Given the description of an element on the screen output the (x, y) to click on. 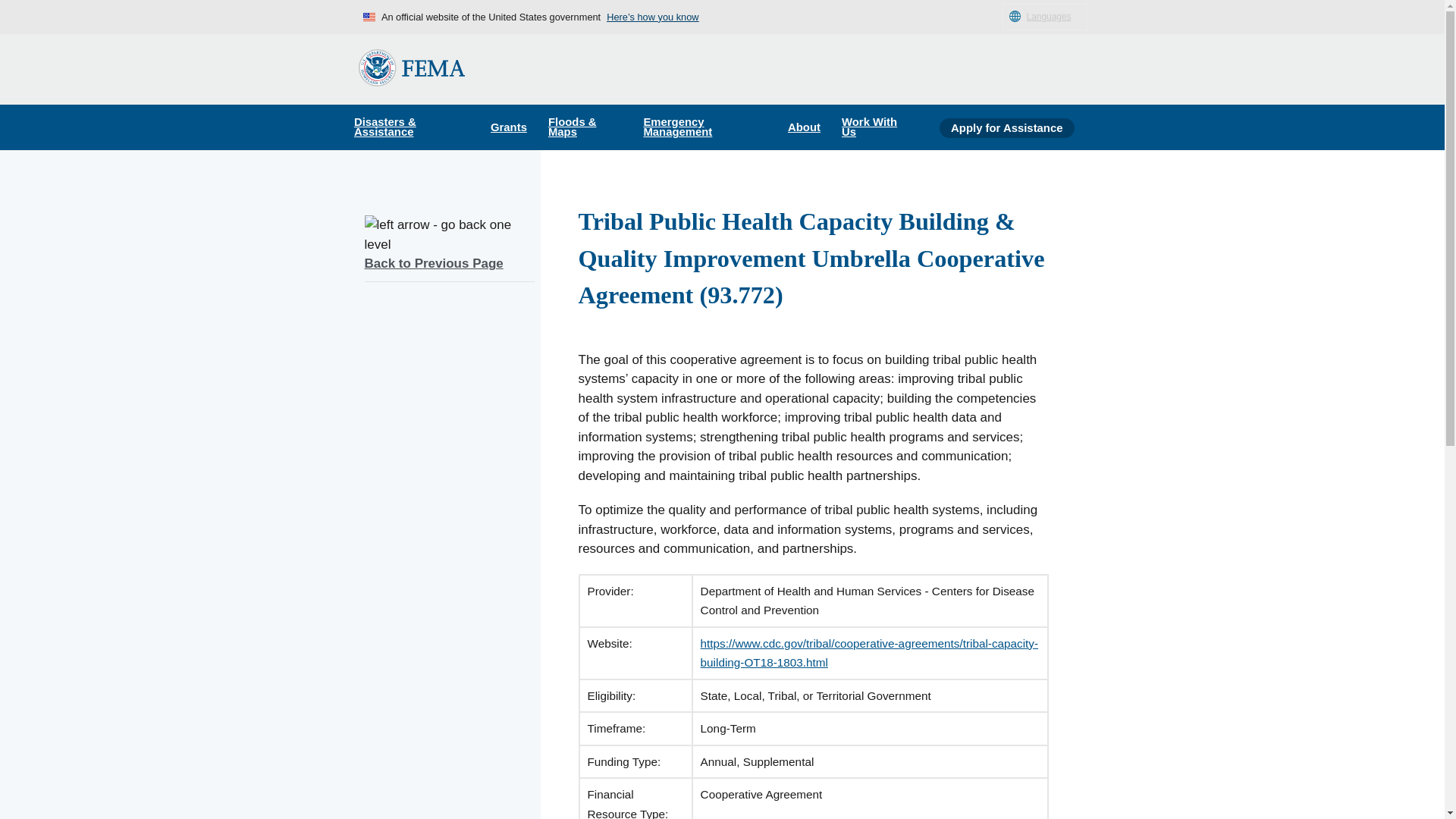
Skip to main content (16, 16)
FEMA logo (411, 67)
Languages (1044, 16)
